Given the description of an element on the screen output the (x, y) to click on. 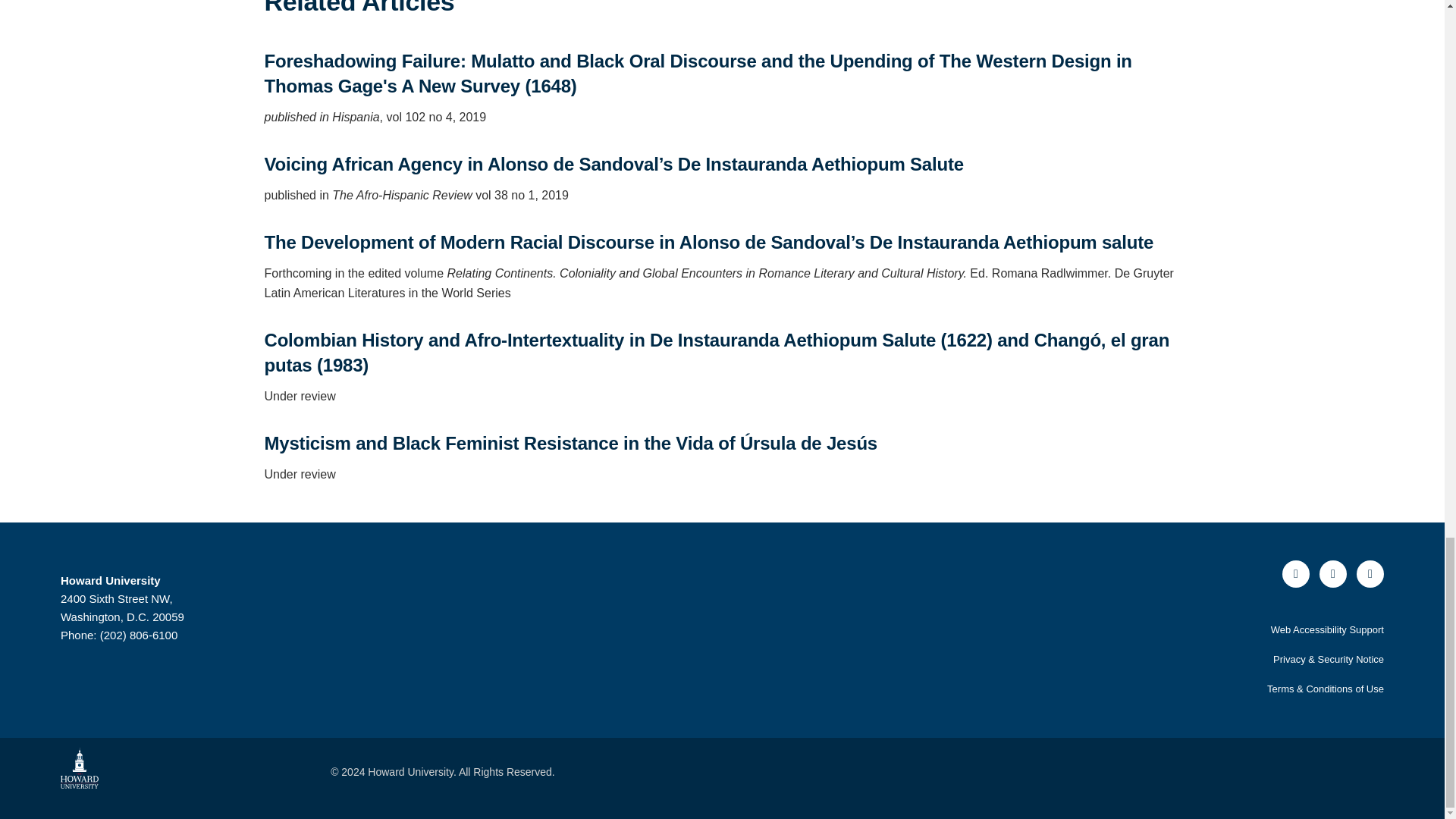
Web Accessibility Support (1327, 629)
Twitter (1332, 574)
Instagram (1370, 574)
Facebook (1295, 574)
Web Accessibility Support (1327, 629)
